Given the description of an element on the screen output the (x, y) to click on. 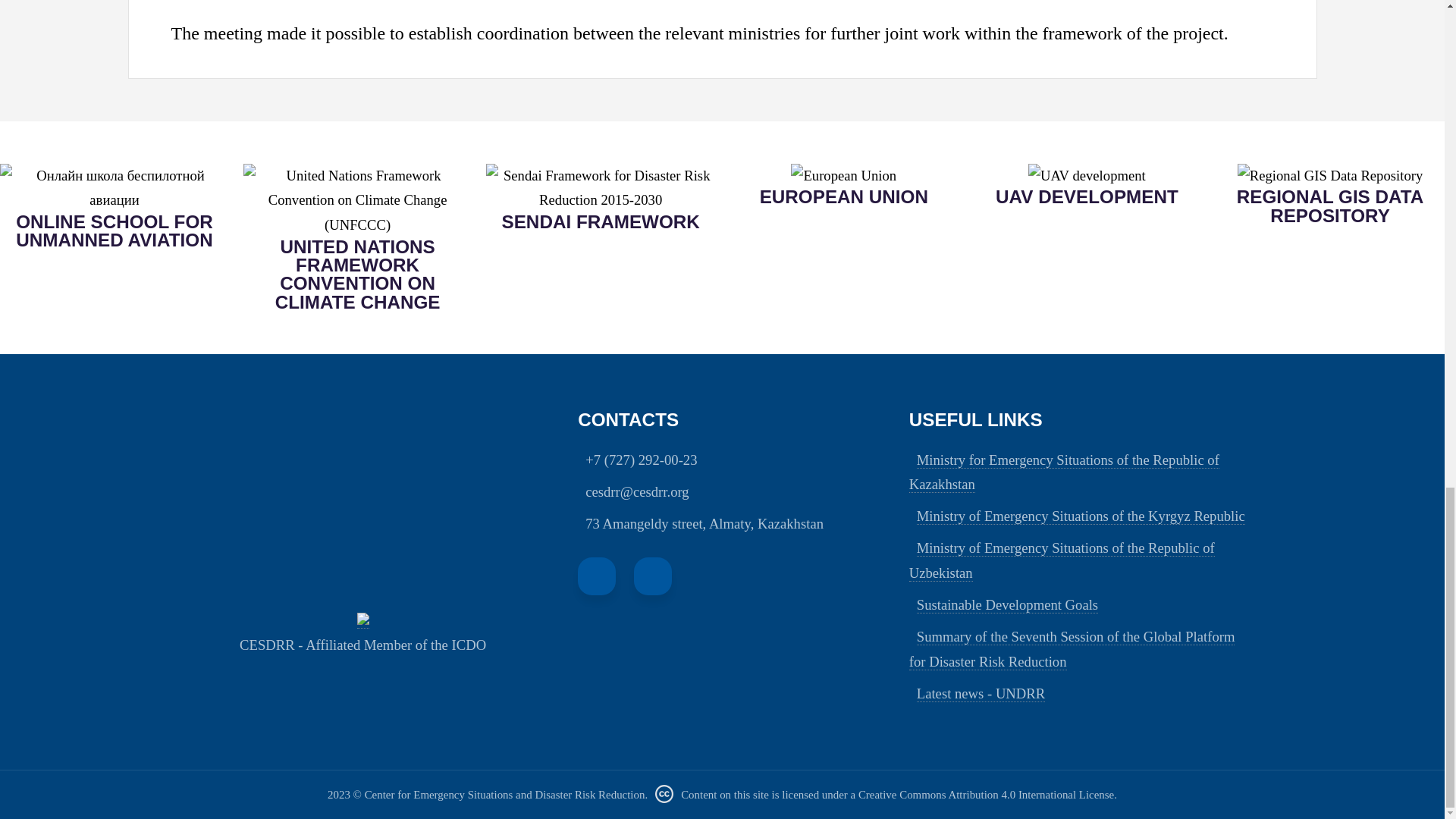
UNITED NATIONS FRAMEWORK CONVENTION ON CLIMATE CHANGE (357, 275)
EUROPEAN UNION (843, 197)
ONLINE SCHOOL FOR UNMANNED AVIATION (114, 231)
Latest news - UNDRR (981, 693)
SENDAI FRAMEWORK (600, 221)
UAV DEVELOPMENT (1086, 197)
Sustainable Development Goals (1007, 605)
Ministry of Emergency Situations of the Kyrgyz Republic (1080, 515)
